Given the description of an element on the screen output the (x, y) to click on. 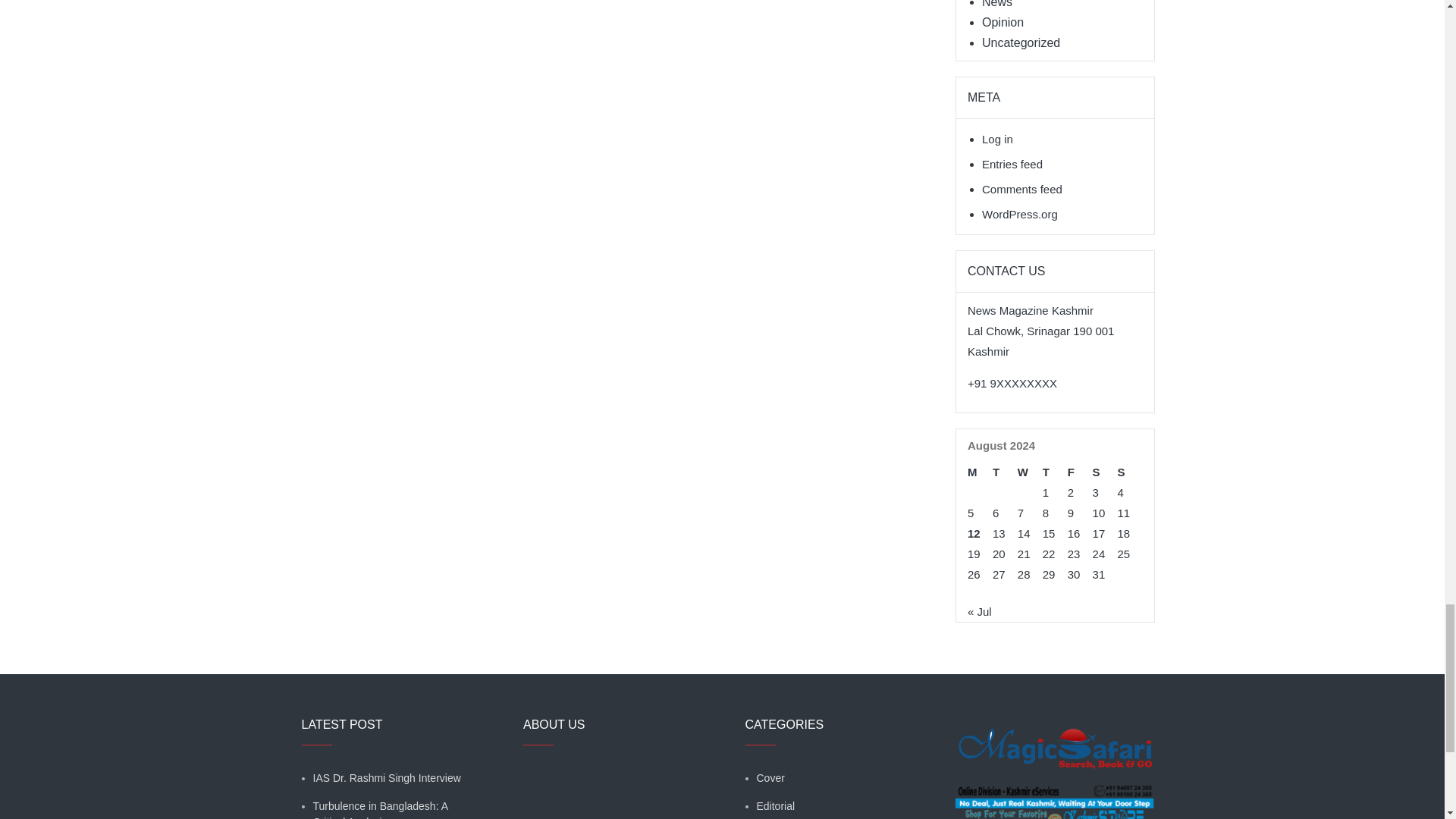
262x220 Ads (1054, 739)
Tuesday (1004, 471)
Sunday (1130, 471)
Saturday (1105, 471)
Monday (980, 471)
Thursday (1054, 471)
262x220 Ads (1054, 804)
Wednesday (1029, 471)
Friday (1080, 471)
